Given the description of an element on the screen output the (x, y) to click on. 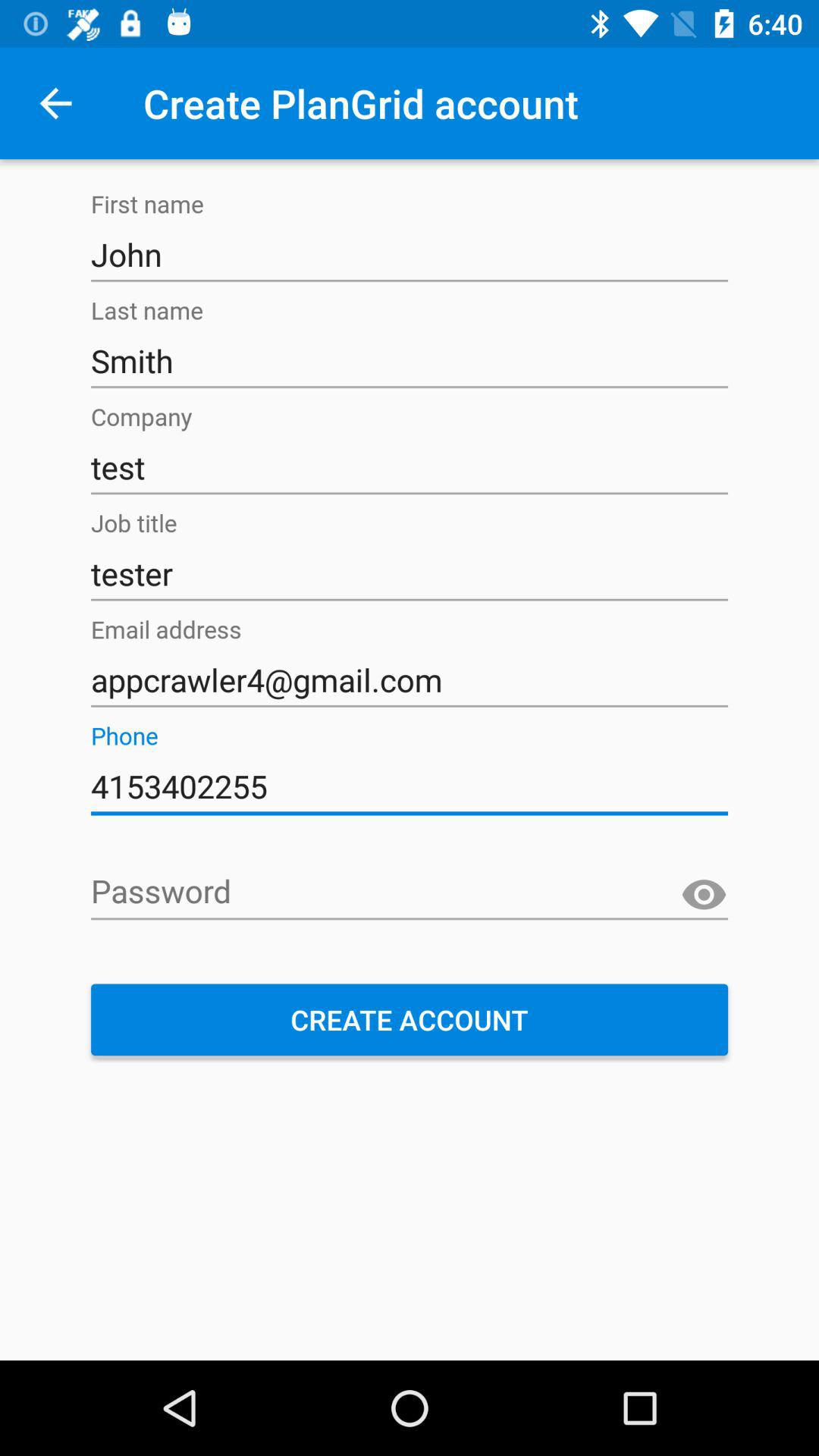
show password (703, 895)
